Given the description of an element on the screen output the (x, y) to click on. 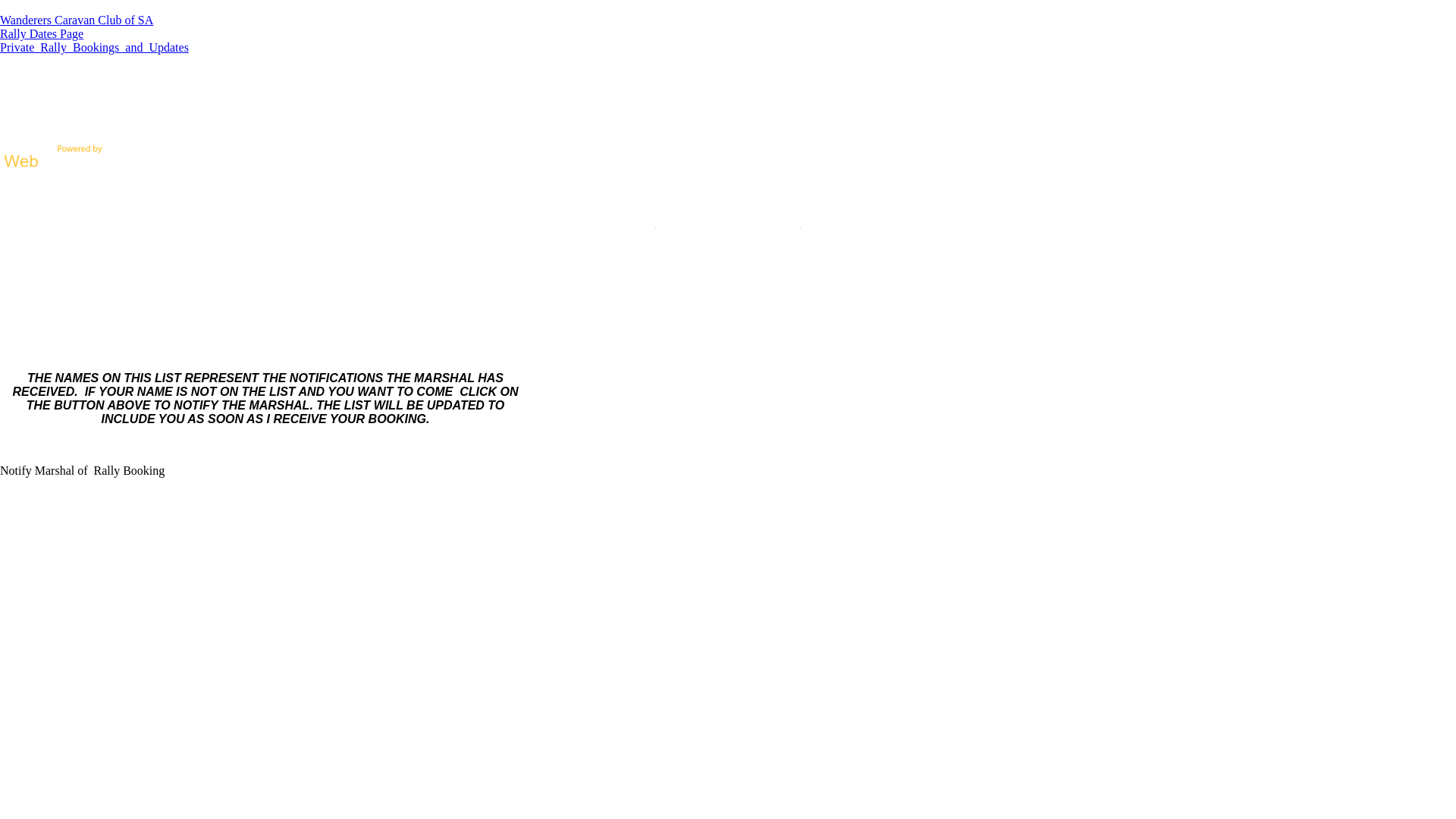
RETURN TO HOME PAGE Element type: text (55, 199)
Wanderers Caravan Club of SA Element type: text (76, 19)
Rally Dates Page Element type: text (41, 33)
RETURN TO RALLY DATES PAGE Element type: text (727, 222)
Private_Rally_Bookings_and_Updates Element type: text (94, 46)
